Given the description of an element on the screen output the (x, y) to click on. 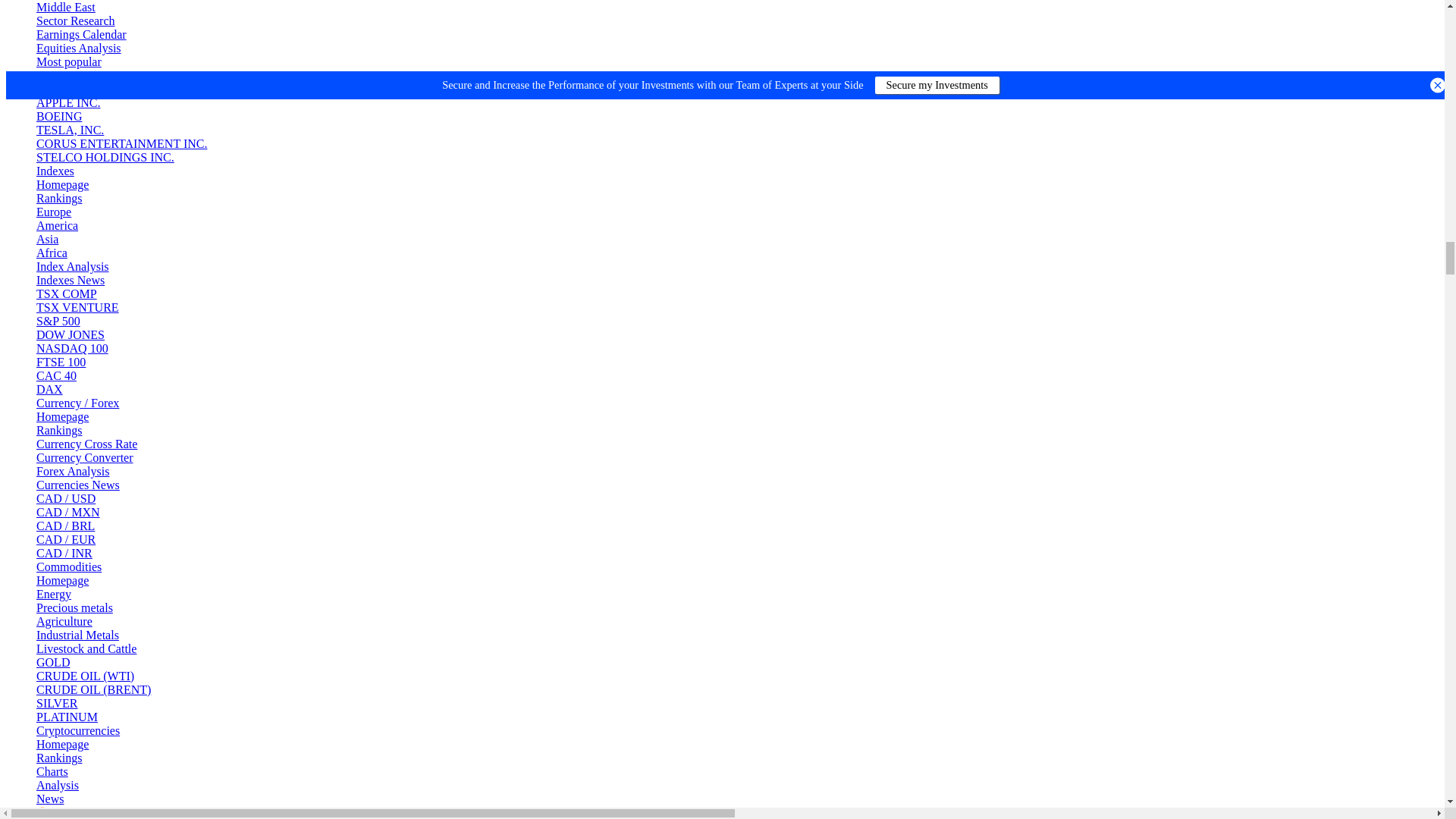
Market price middle-east (66, 6)
Most popular (68, 61)
Earnings Calendar (81, 33)
Sector Research (75, 20)
Apple Inc. (68, 102)
The Edinburgh Investment Trust plc (158, 88)
Earnings Calendar (81, 33)
Boeing (58, 115)
Equities Analysis (78, 47)
Sector Research (75, 20)
Middle East (66, 6)
The Goldman Sachs Group, Inc. (138, 74)
